Given the description of an element on the screen output the (x, y) to click on. 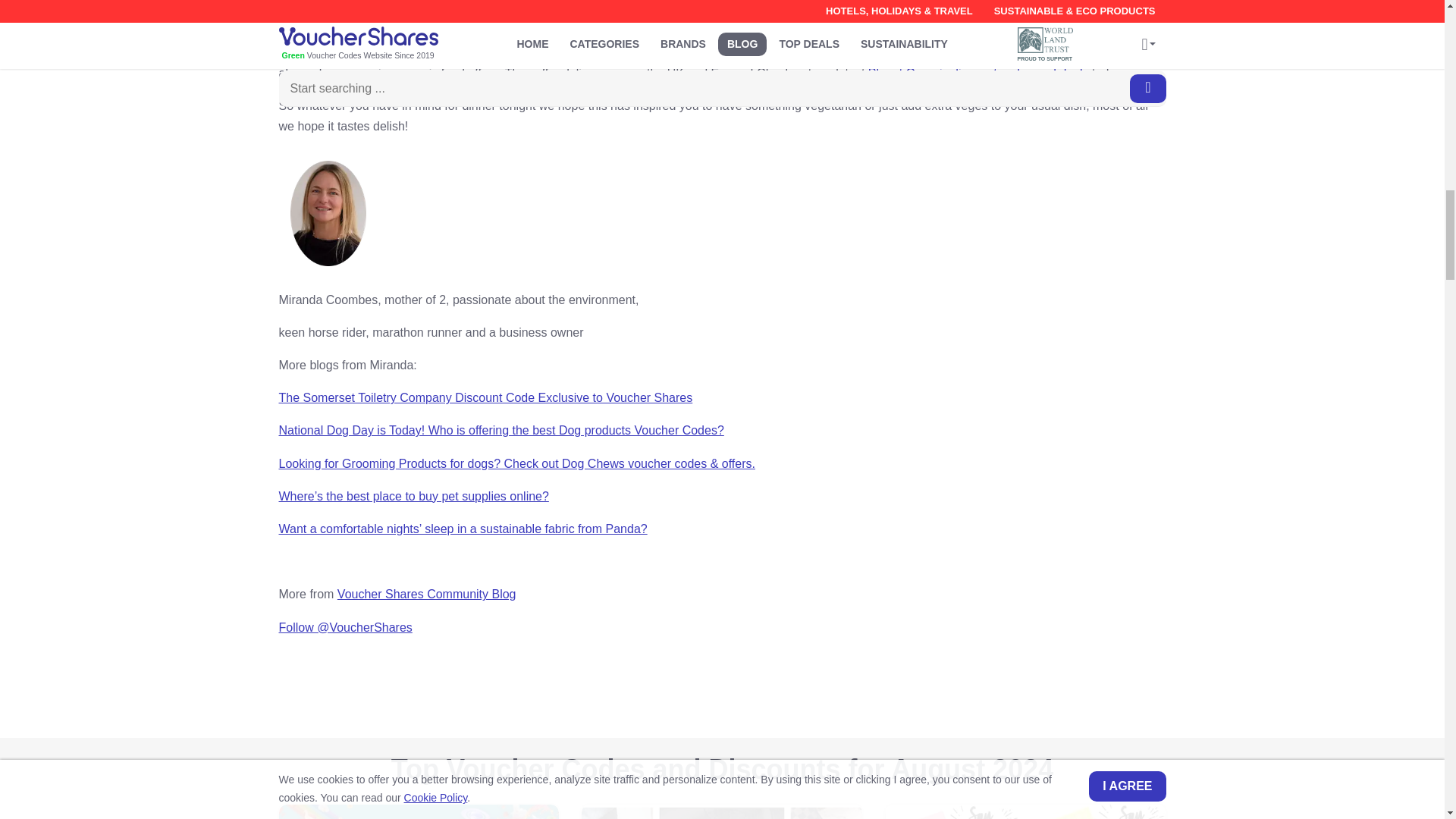
Amazon (419, 811)
Big Green Smile voucher codes (418, 19)
Planet Organic discount codes and deals (978, 72)
Voucher Shares Community Blog (426, 594)
